Given the description of an element on the screen output the (x, y) to click on. 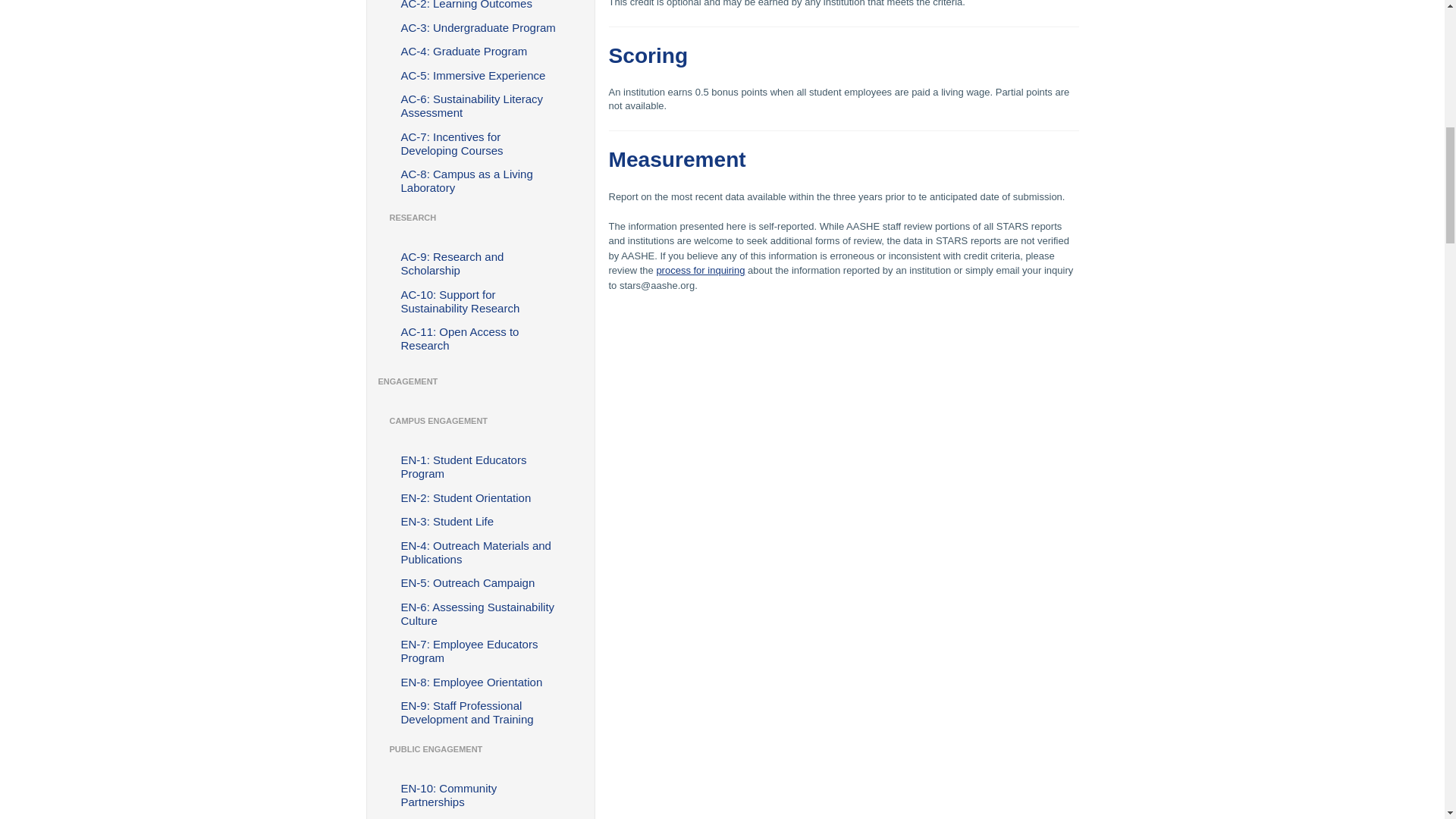
AC-3: Undergraduate Program (481, 27)
AC-2: Learning Outcomes (481, 6)
